Given the description of an element on the screen output the (x, y) to click on. 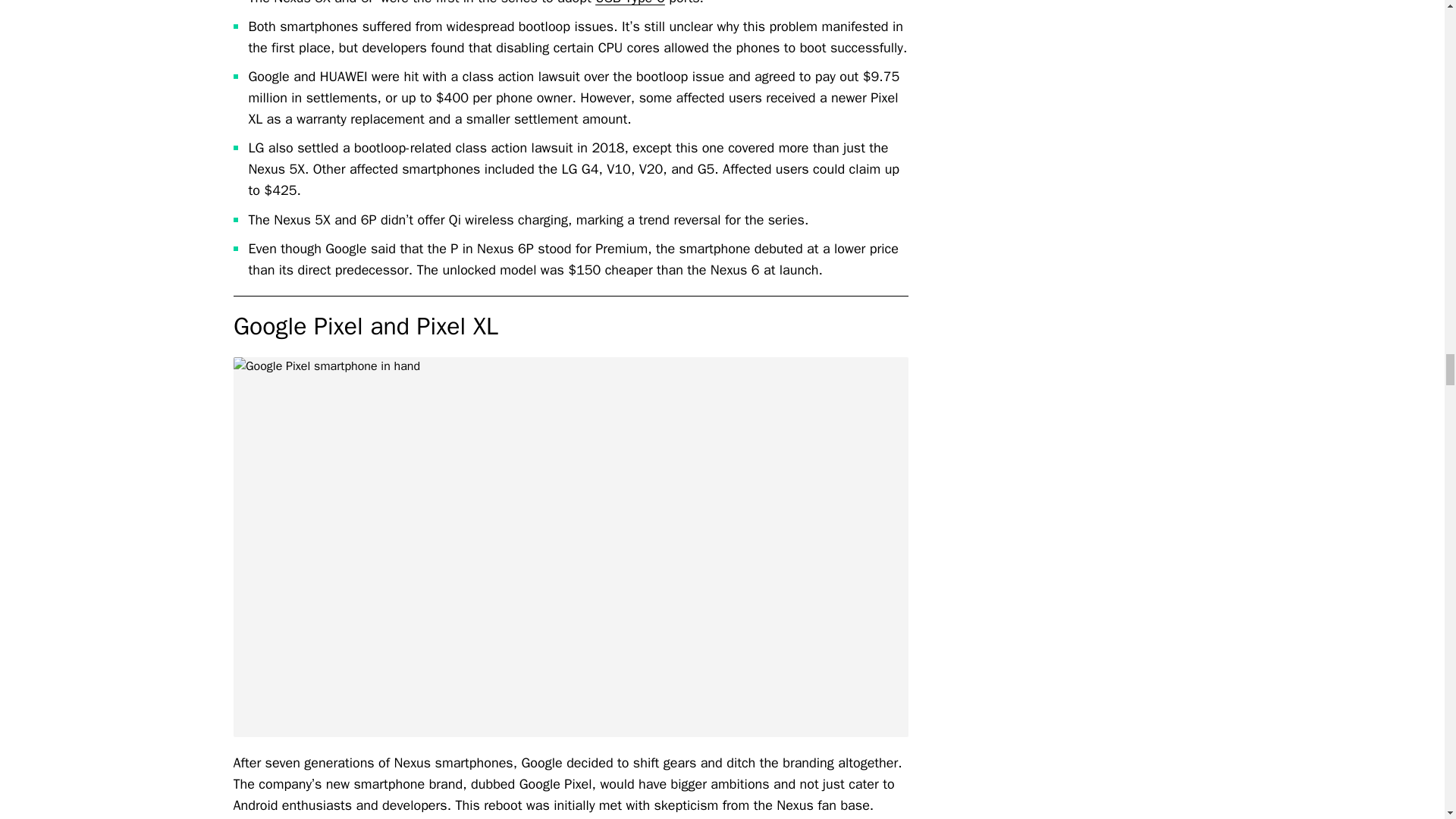
USB Type-C (630, 2)
